Given the description of an element on the screen output the (x, y) to click on. 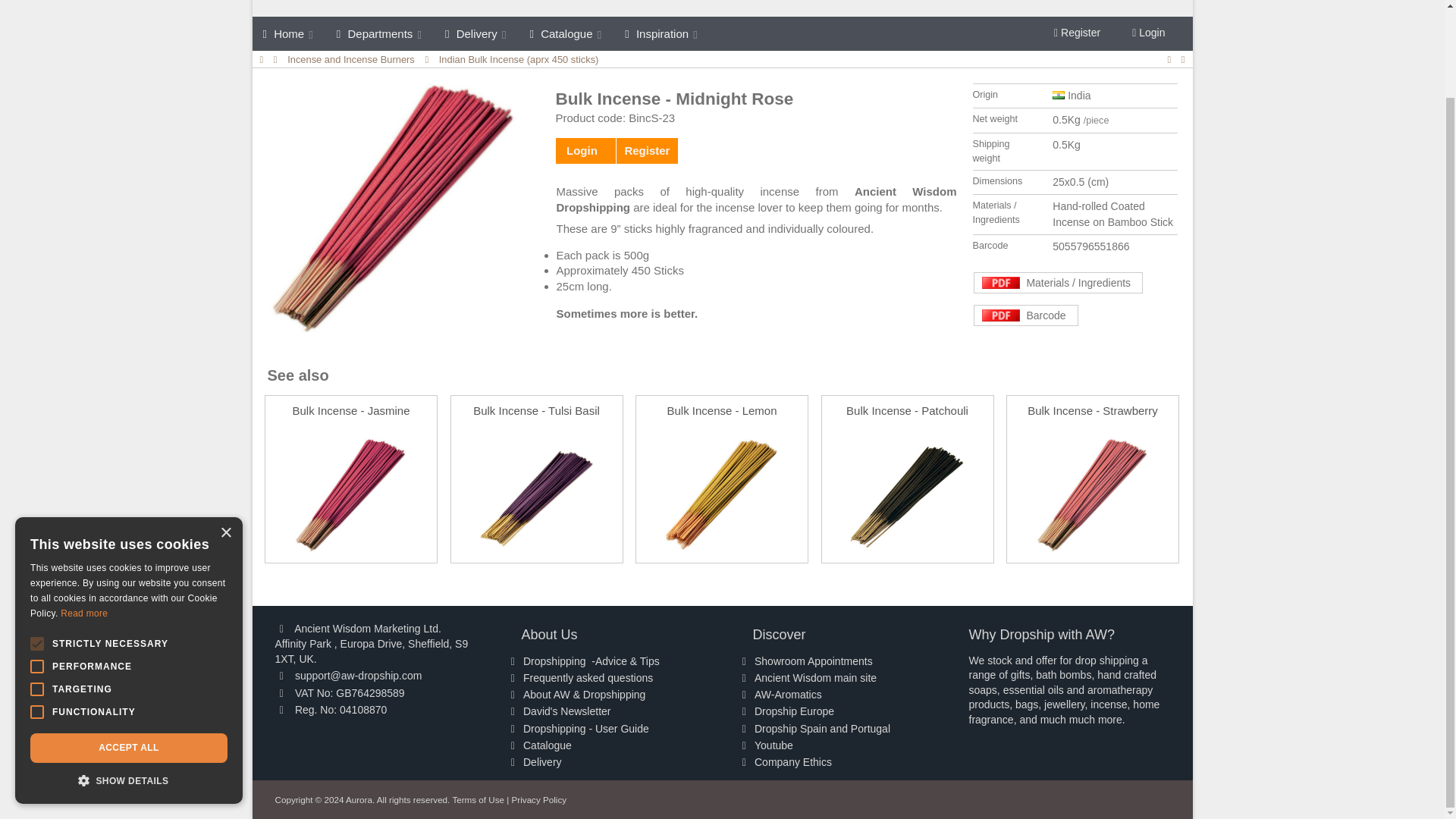
Register (1077, 32)
Home (287, 33)
Login (1147, 32)
Departments (379, 33)
IND (1058, 94)
Delivery (476, 33)
Inspiration (662, 33)
Catalogue (566, 33)
